Given the description of an element on the screen output the (x, y) to click on. 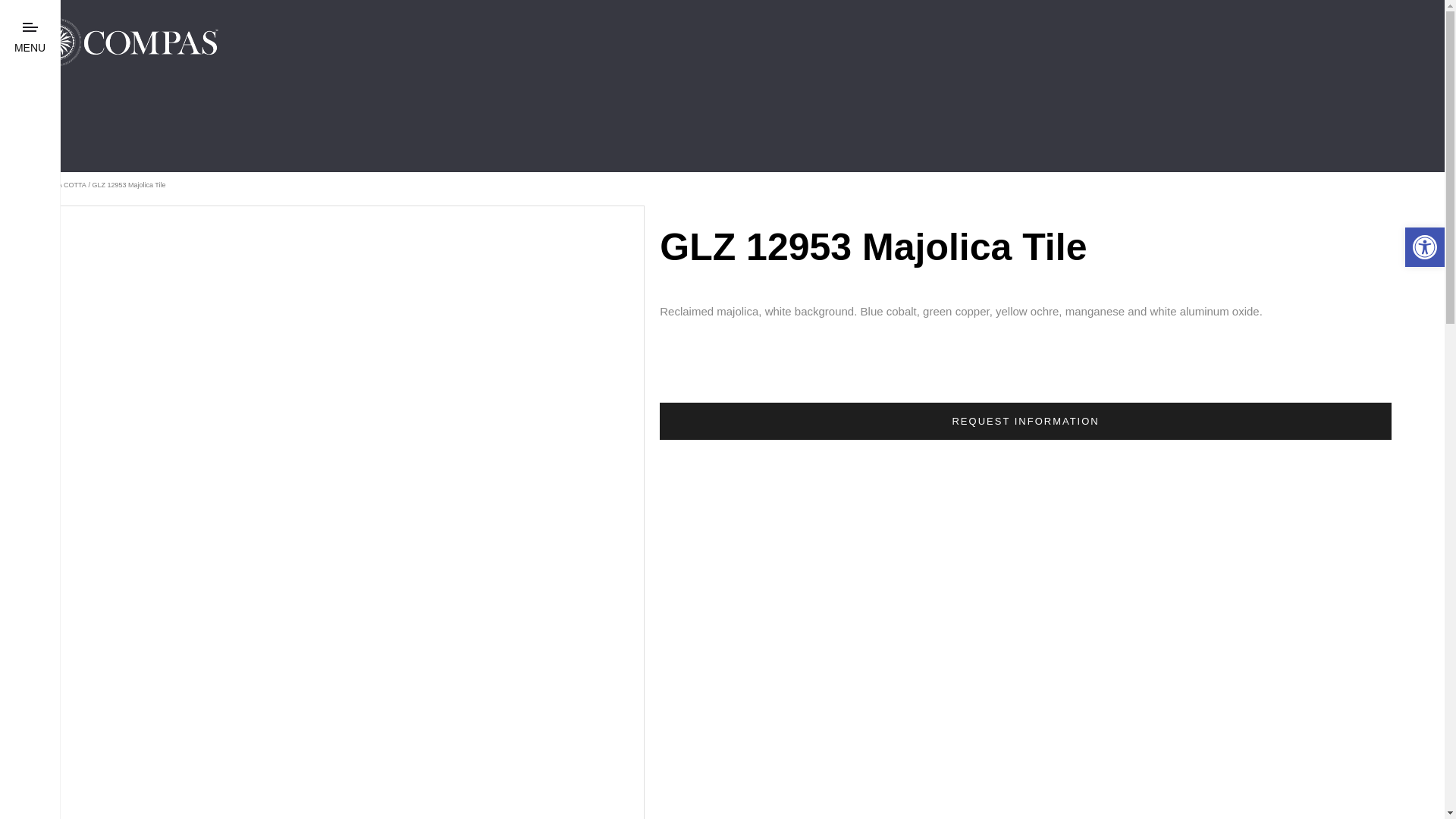
Home (23, 184)
Accessibility Tools (1424, 247)
REQUEST INFORMATION (1025, 420)
TERRA COTTA (62, 184)
